Given the description of an element on the screen output the (x, y) to click on. 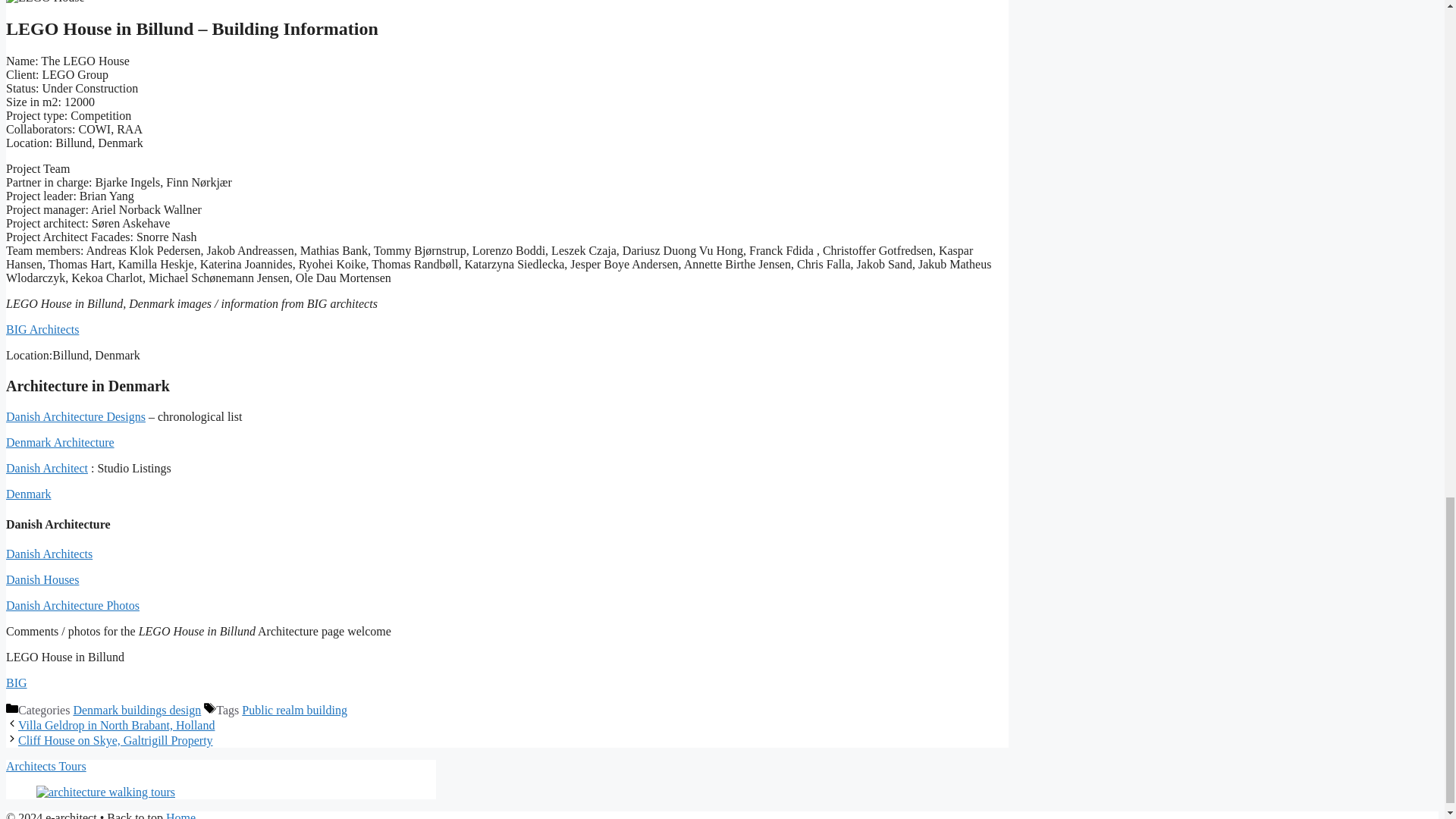
BIG (16, 682)
Danish Architect (46, 468)
Cliff House on Skye, Galtrigill Property (114, 739)
Denmark buildings design (136, 709)
Scroll back to top (1406, 236)
Danish Houses (41, 579)
Villa Geldrop in North Brabant, Holland (115, 725)
Public realm building (294, 709)
Danish Architecture Photos (72, 604)
Danish Architects (49, 553)
Denmark Architecture (60, 441)
Architects Tours (45, 766)
Danish Architecture Designs (75, 416)
BIG Architects (41, 328)
Denmark (27, 493)
